Given the description of an element on the screen output the (x, y) to click on. 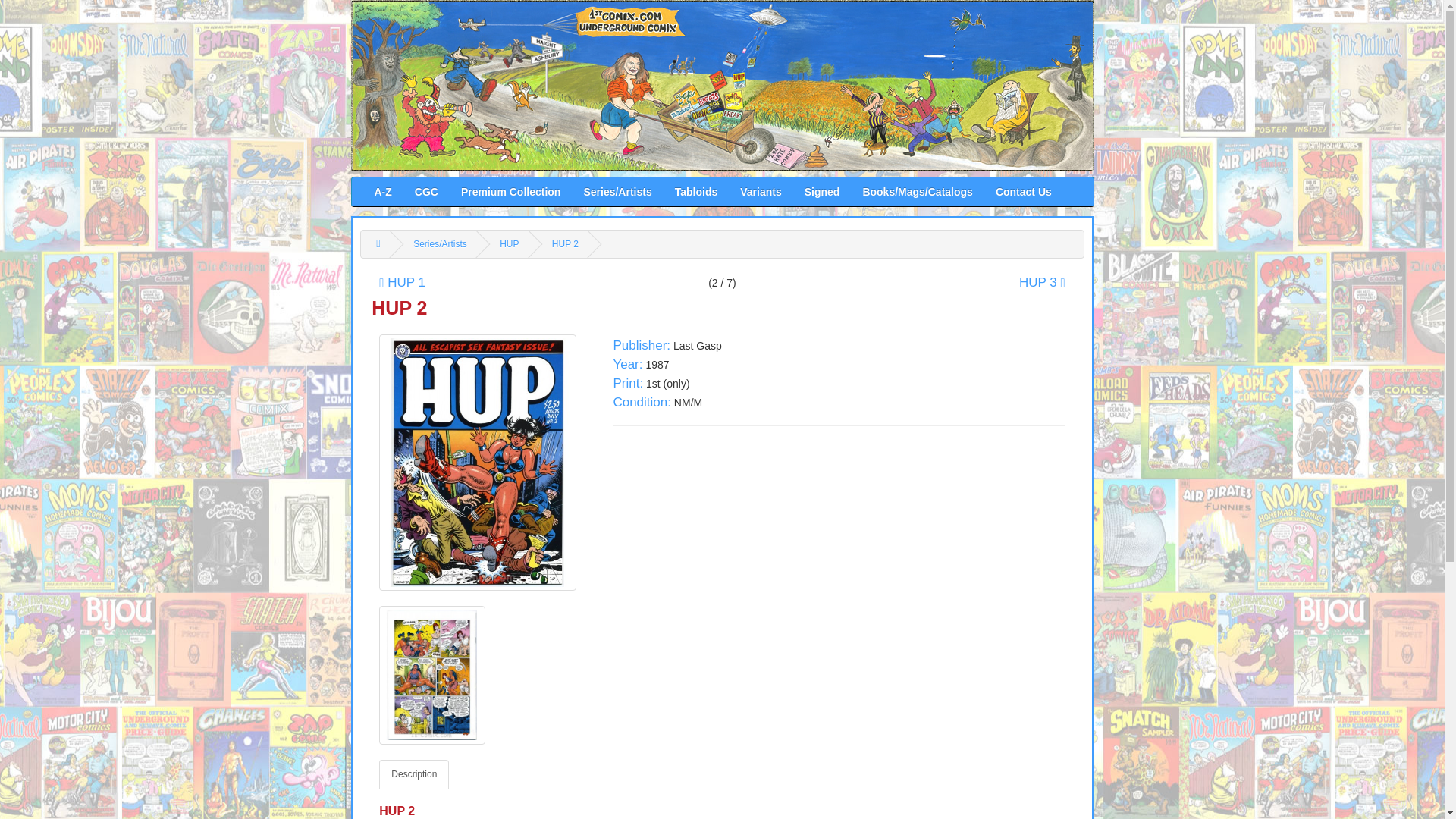
HUP Element type: text (508, 243)
Signed Element type: text (822, 191)
CGC Element type: text (426, 191)
HUP 2 Element type: text (565, 243)
Books/Mags/Catalogs Element type: text (916, 191)
Description Element type: text (413, 774)
HUP 1 Element type: text (402, 282)
A-Z Element type: text (382, 191)
Premium Collection Element type: text (510, 191)
Series/Artists Element type: text (616, 191)
Note: Element type: hover (721, 85)
Tabloids Element type: text (696, 191)
Series/Artists Element type: text (440, 243)
HUP 3 Element type: text (1042, 282)
Variants Element type: text (760, 191)
Contact Us Element type: text (1023, 191)
